Given the description of an element on the screen output the (x, y) to click on. 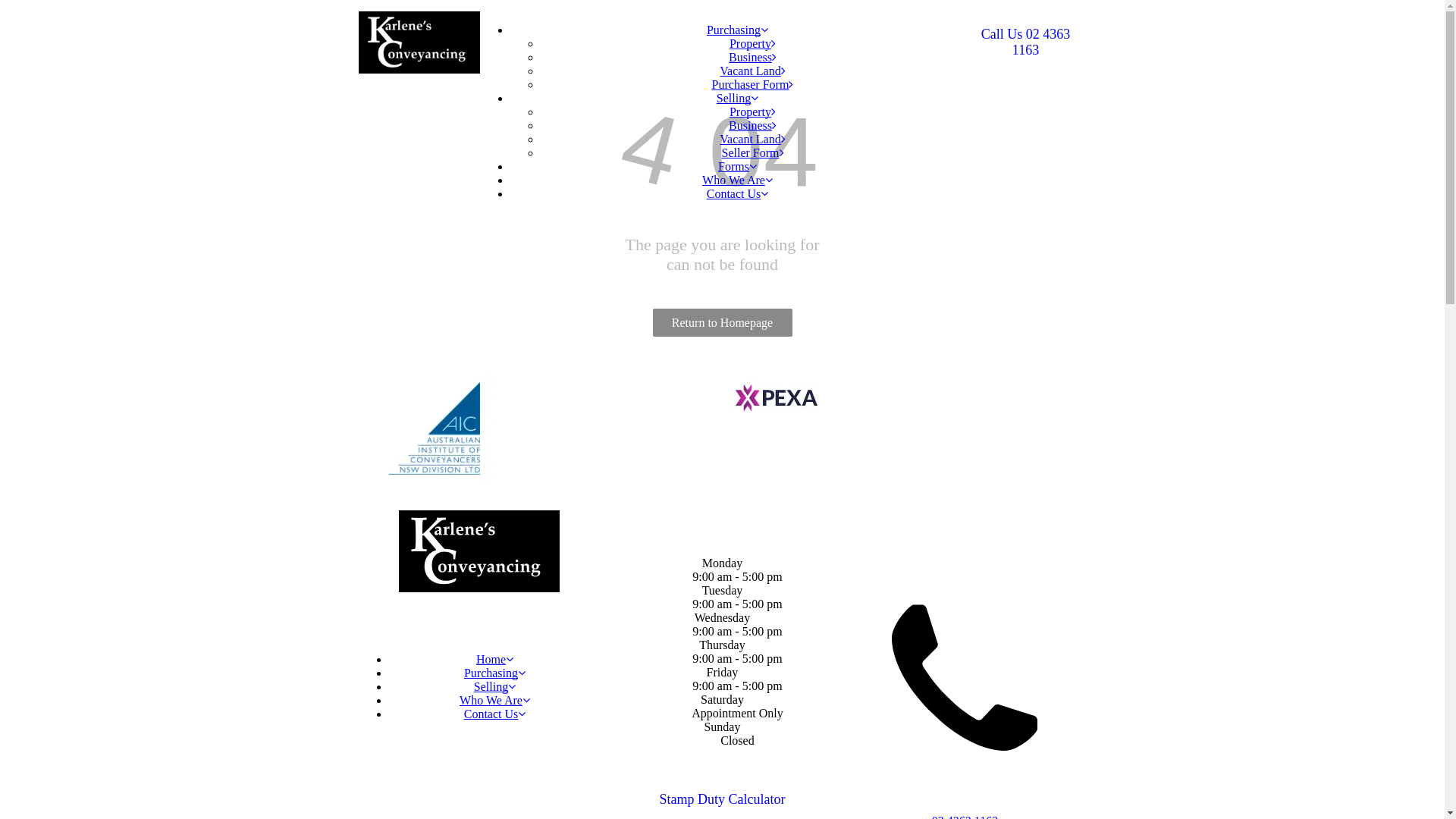
Who We Are Element type: text (737, 179)
Contact Us Element type: text (737, 193)
Forms Element type: text (737, 166)
Vacant Land Element type: text (751, 70)
AIC Element type: hover (429, 429)
Selling Element type: text (737, 97)
Home Element type: text (494, 658)
Find Us On Facebook Element type: hover (612, 771)
Call Us 02 4363 1163 Element type: text (1024, 41)
PEXA Element type: hover (774, 398)
Find Us On GMB Element type: hover (642, 771)
Business Element type: text (752, 125)
Stamp Duty Calculator Element type: text (721, 799)
www.localsearch.com.au Element type: hover (671, 771)
Who We Are Element type: text (494, 699)
Purchaser Form Element type: text (752, 84)
Seller Form Element type: text (752, 152)
Property Element type: text (752, 43)
Contact Us Element type: text (495, 713)
Return to Homepage Element type: text (721, 322)
Business Element type: text (752, 56)
Selling Element type: text (494, 686)
Property Element type: text (752, 111)
Vacant Land Element type: text (751, 138)
Purchasing Element type: text (494, 672)
Purchasing Element type: text (737, 29)
